Given the description of an element on the screen output the (x, y) to click on. 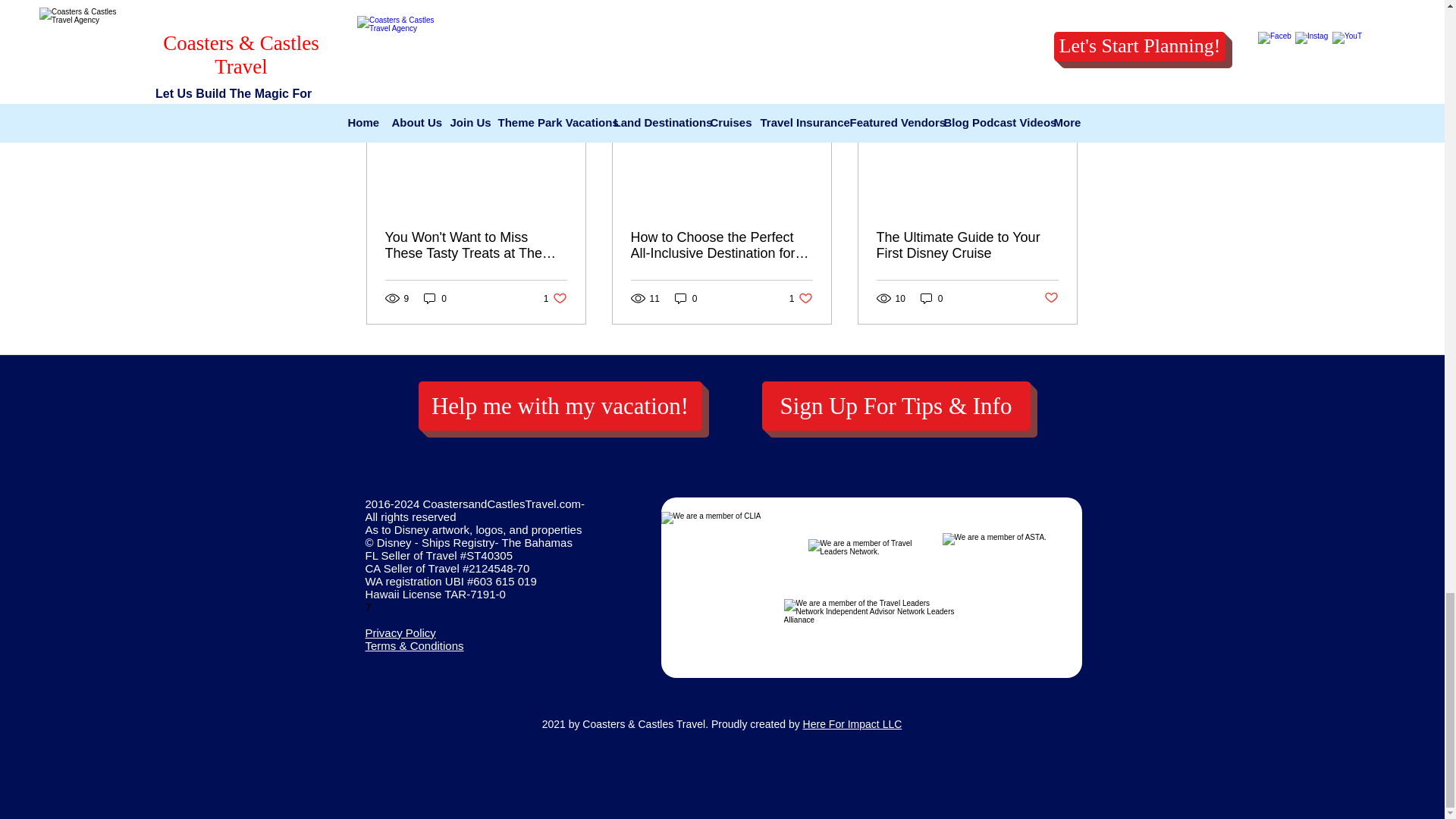
Cruise Lines International Association (738, 554)
Travel Leaders Network (871, 563)
American Society of Travel Advisors (1005, 560)
